Given the description of an element on the screen output the (x, y) to click on. 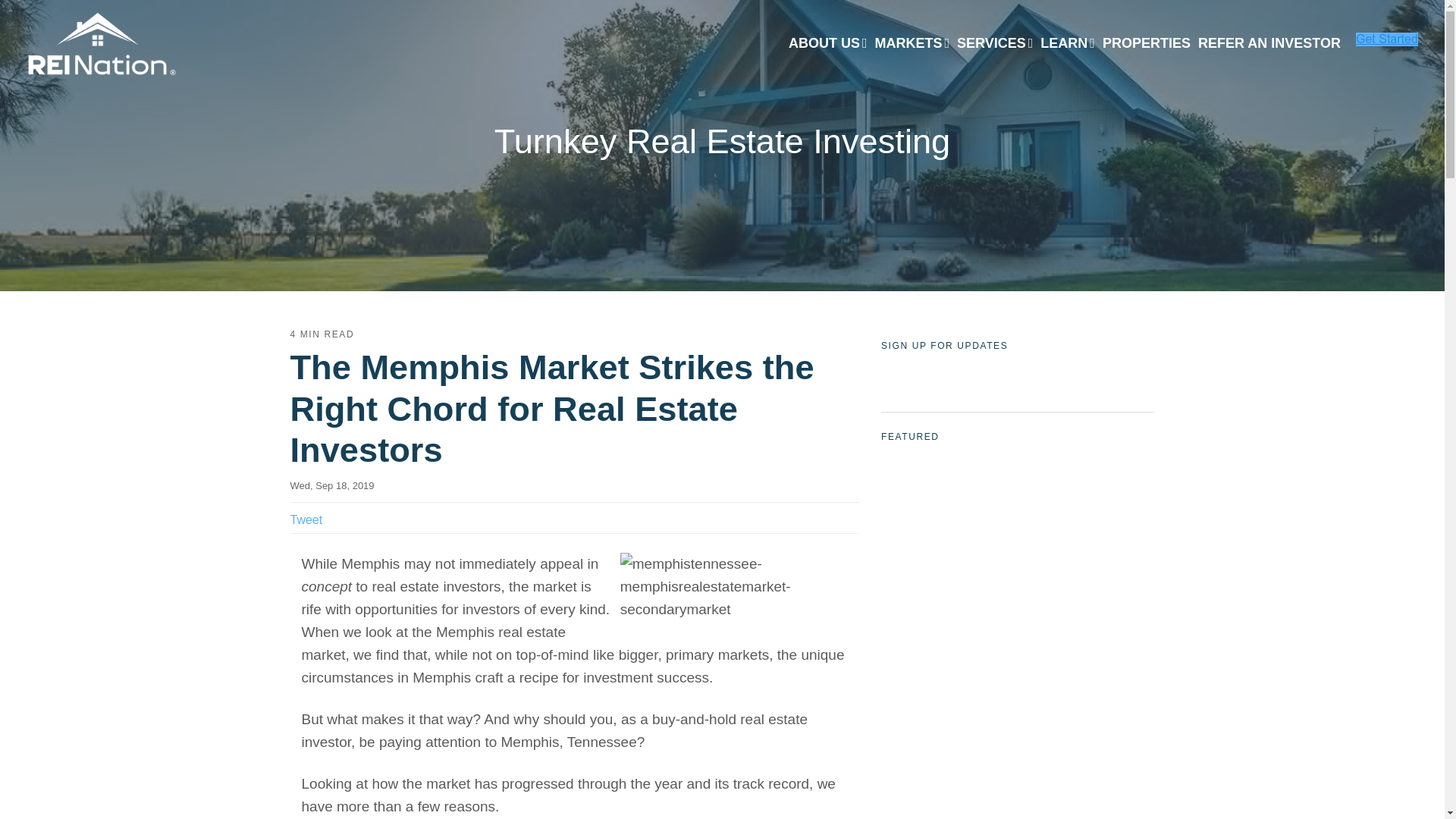
ABOUT US (827, 43)
MARKETS (911, 43)
SERVICES (994, 43)
LEARN (1067, 43)
